Given the description of an element on the screen output the (x, y) to click on. 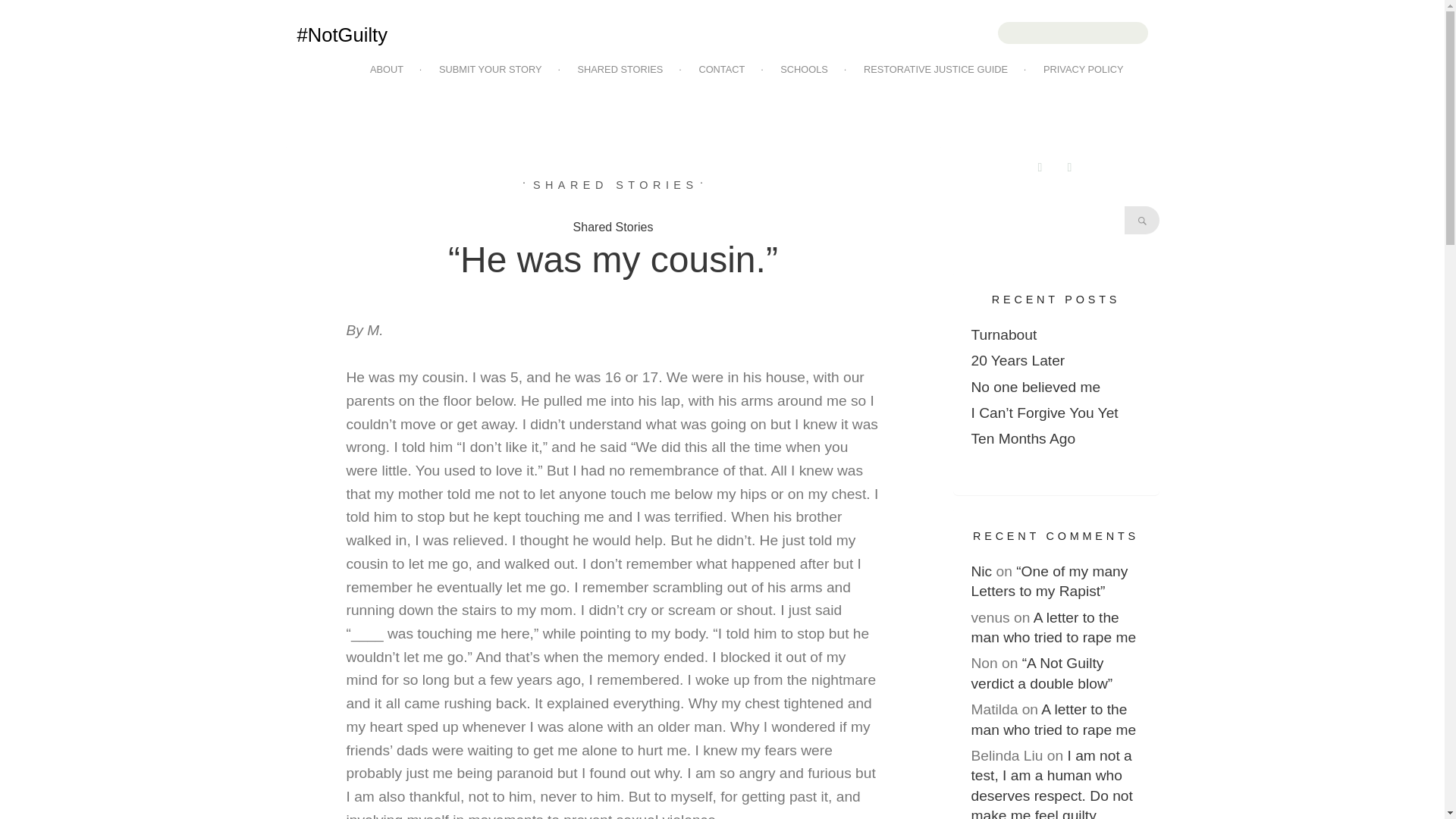
SHARED STORIES (615, 184)
No one believed me (1035, 386)
Ten Months Ago (1023, 438)
SCHOOLS (809, 69)
CONTACT (727, 69)
Turnabout (1003, 334)
Nic (981, 571)
SHARED STORIES (626, 69)
PRIVACY POLICY (1090, 69)
ABOUT (393, 69)
